Given the description of an element on the screen output the (x, y) to click on. 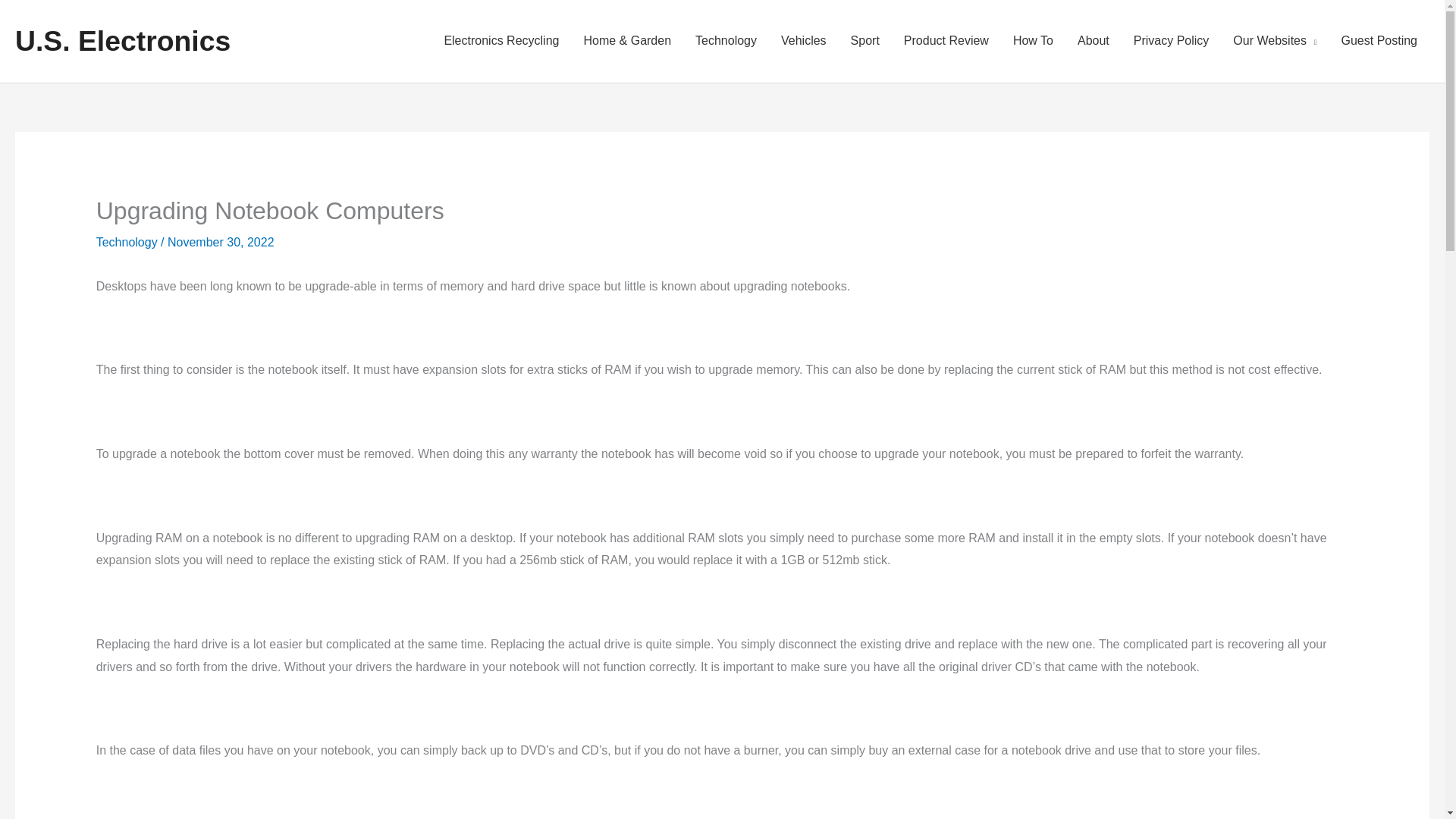
Guest Posting (1378, 40)
Technology (126, 241)
Electronics Recycling (500, 40)
Technology (725, 40)
About (1093, 40)
U.S. Electronics (122, 40)
Product Review (946, 40)
How To (1033, 40)
Vehicles (803, 40)
Our Websites (1274, 40)
Privacy Policy (1171, 40)
Sport (864, 40)
